Given the description of an element on the screen output the (x, y) to click on. 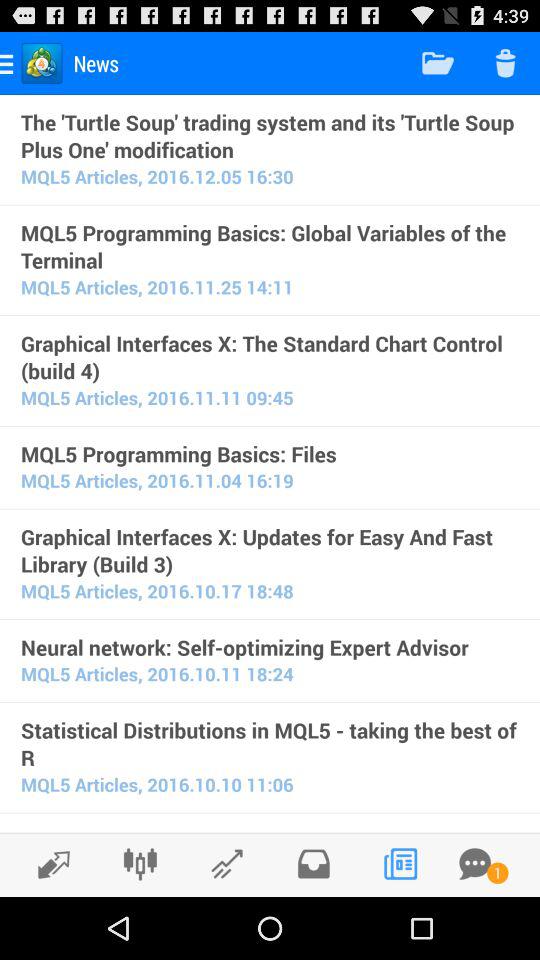
press the item above the mql5 articles 2016 icon (270, 135)
